Given the description of an element on the screen output the (x, y) to click on. 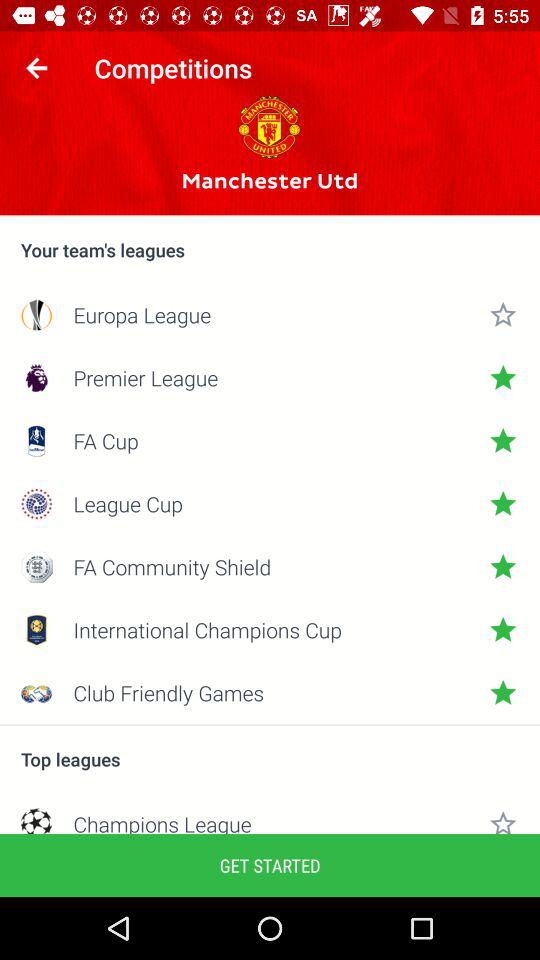
launch league cup item (269, 503)
